Given the description of an element on the screen output the (x, y) to click on. 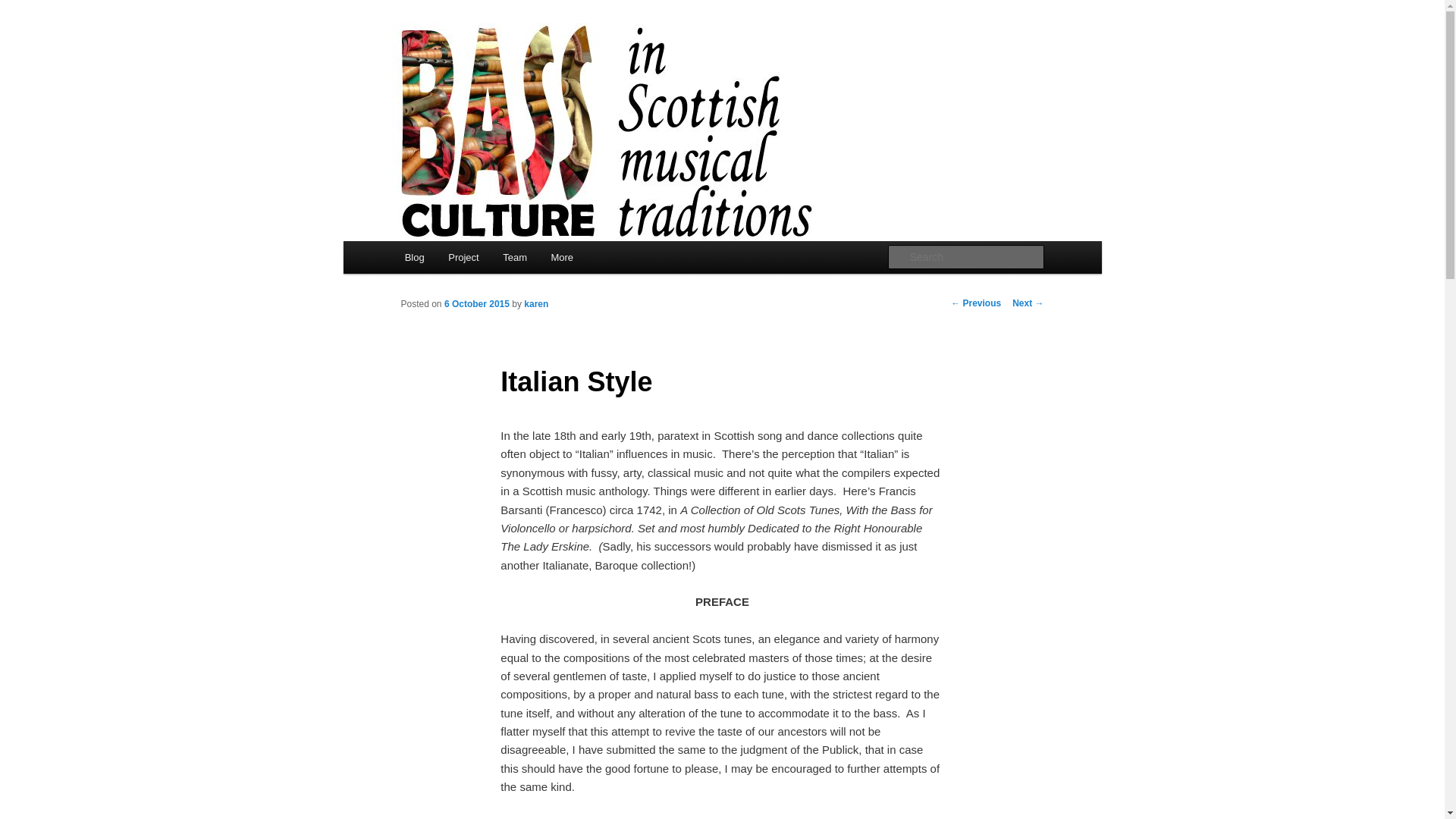
More (561, 256)
Blog (414, 256)
Skip to primary content (472, 259)
Skip to primary content (472, 259)
Search (24, 8)
See the music (538, 818)
Bass Culture in Scottish musical traditions (632, 77)
Bass Culture in Scottish musical traditions (632, 77)
View all posts by karen (536, 303)
Team (514, 256)
